Given the description of an element on the screen output the (x, y) to click on. 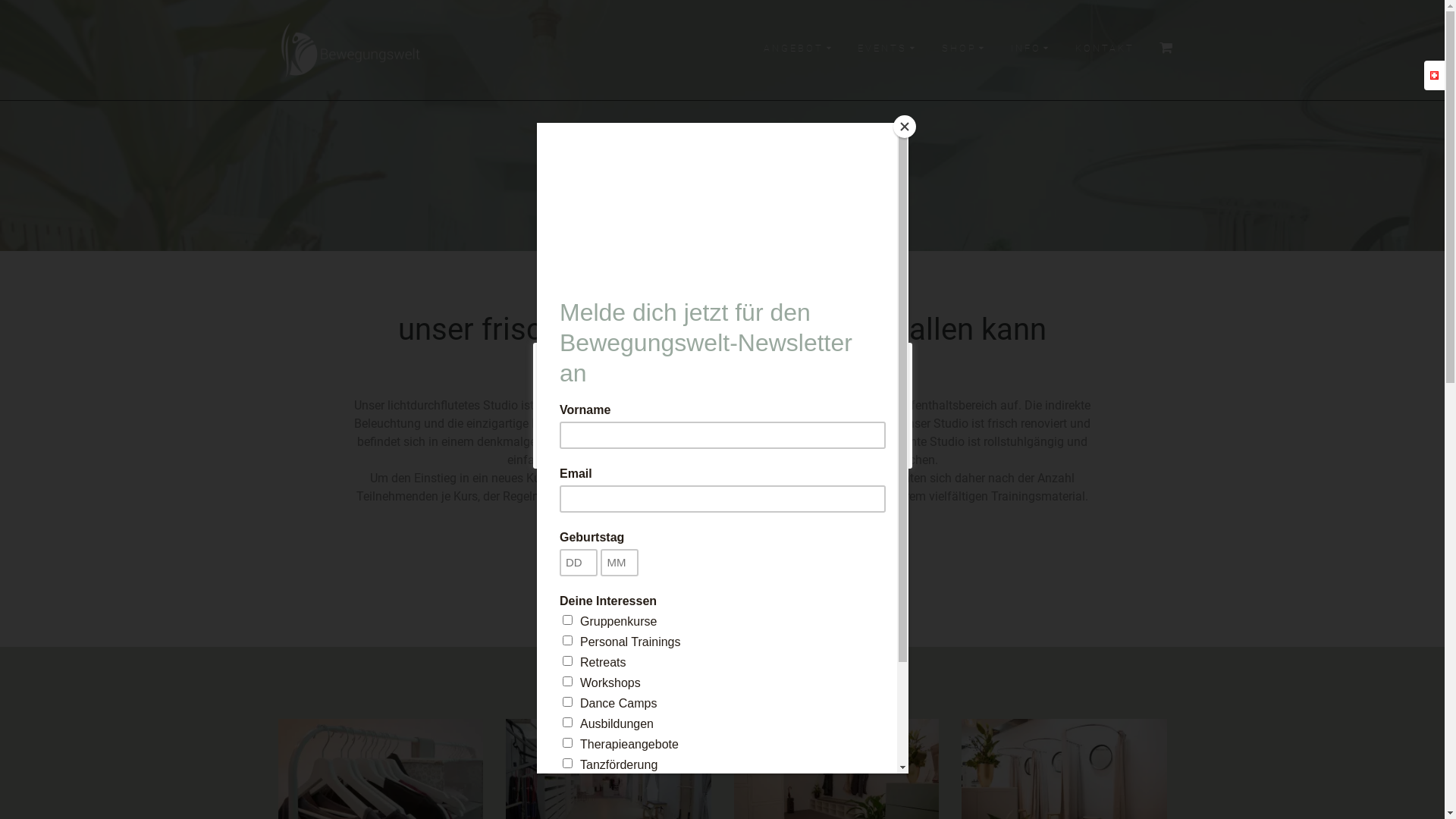
OK Element type: text (793, 433)
ANGEBOT Element type: text (800, 49)
SHOP Element type: text (965, 49)
Download Preisliste Element type: text (721, 534)
EVENTS Element type: text (888, 49)
KONTAKT Element type: text (1104, 49)
INFO Element type: text (1032, 49)
Cookie-Settings Element type: text (819, 409)
